Given the description of an element on the screen output the (x, y) to click on. 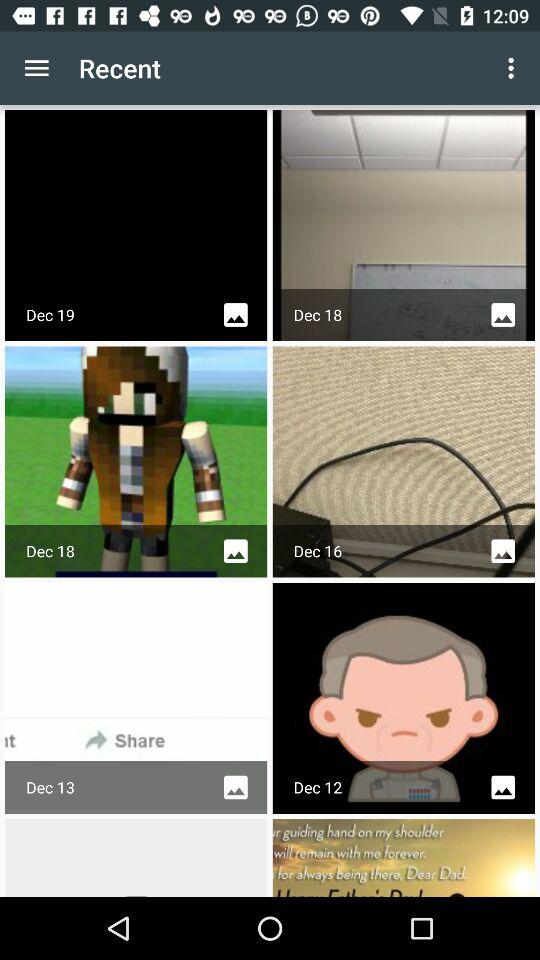
choose item to the left of the recent item (36, 68)
